Given the description of an element on the screen output the (x, y) to click on. 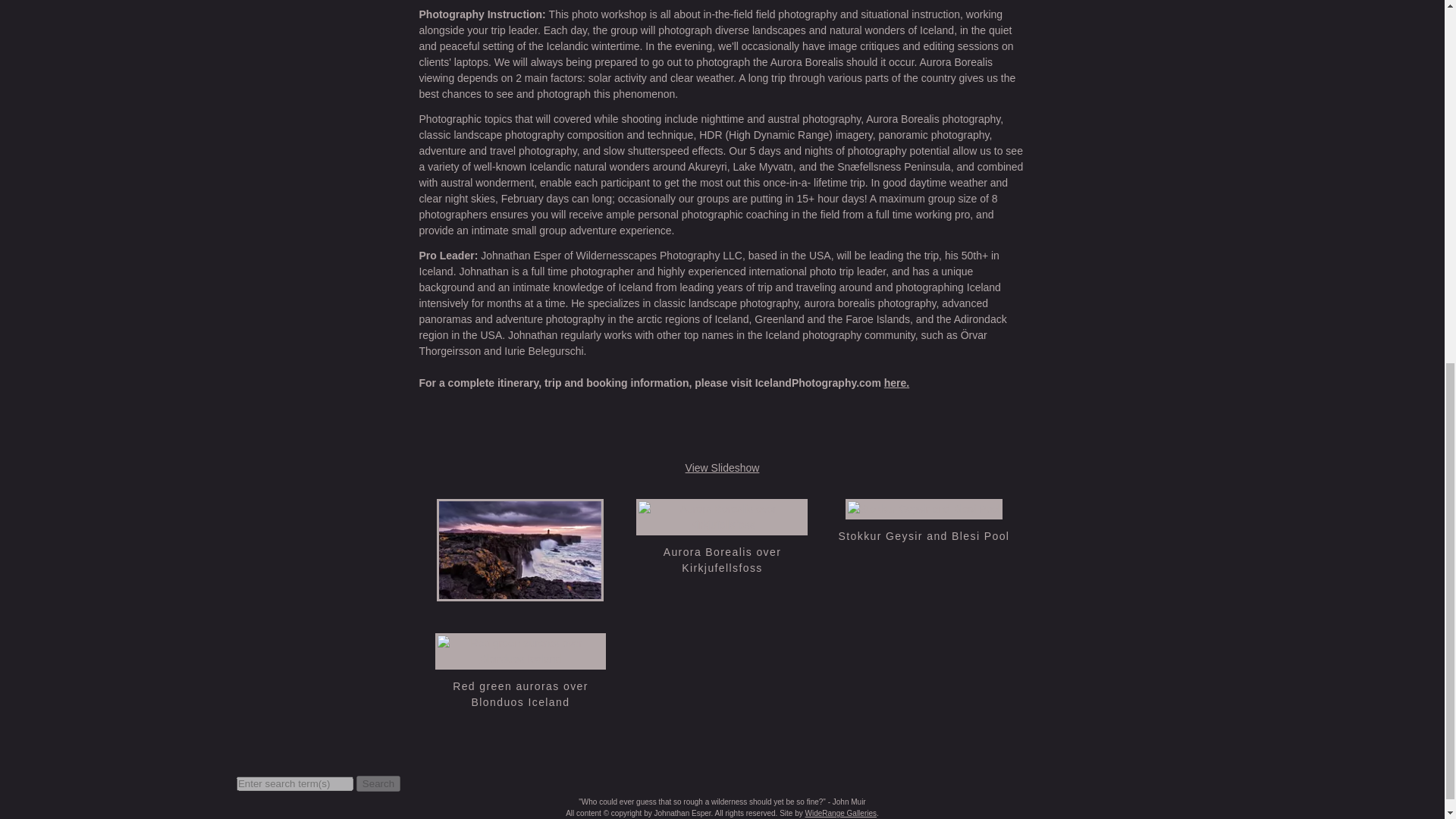
Stokkur Geysir and Blesi Pool (924, 535)
Red green auroras over Blonduos Iceland (520, 694)
Aurora Borealis over Kirkjufellsfoss (722, 560)
here. (895, 382)
Stokkur Geysir and Blesi Pool (924, 510)
WideRange Galleries (841, 813)
Red green auroras over Blonduos Iceland (521, 661)
Red green auroras over Blonduos Iceland (520, 694)
View Slideshow (722, 467)
Stokkur Geysir and Blesi Pool (924, 535)
Aurora Borealis over Kirkjufellsfoss (722, 526)
Aurora Borealis over Kirkjufellsfoss (722, 560)
Search (378, 783)
